Given the description of an element on the screen output the (x, y) to click on. 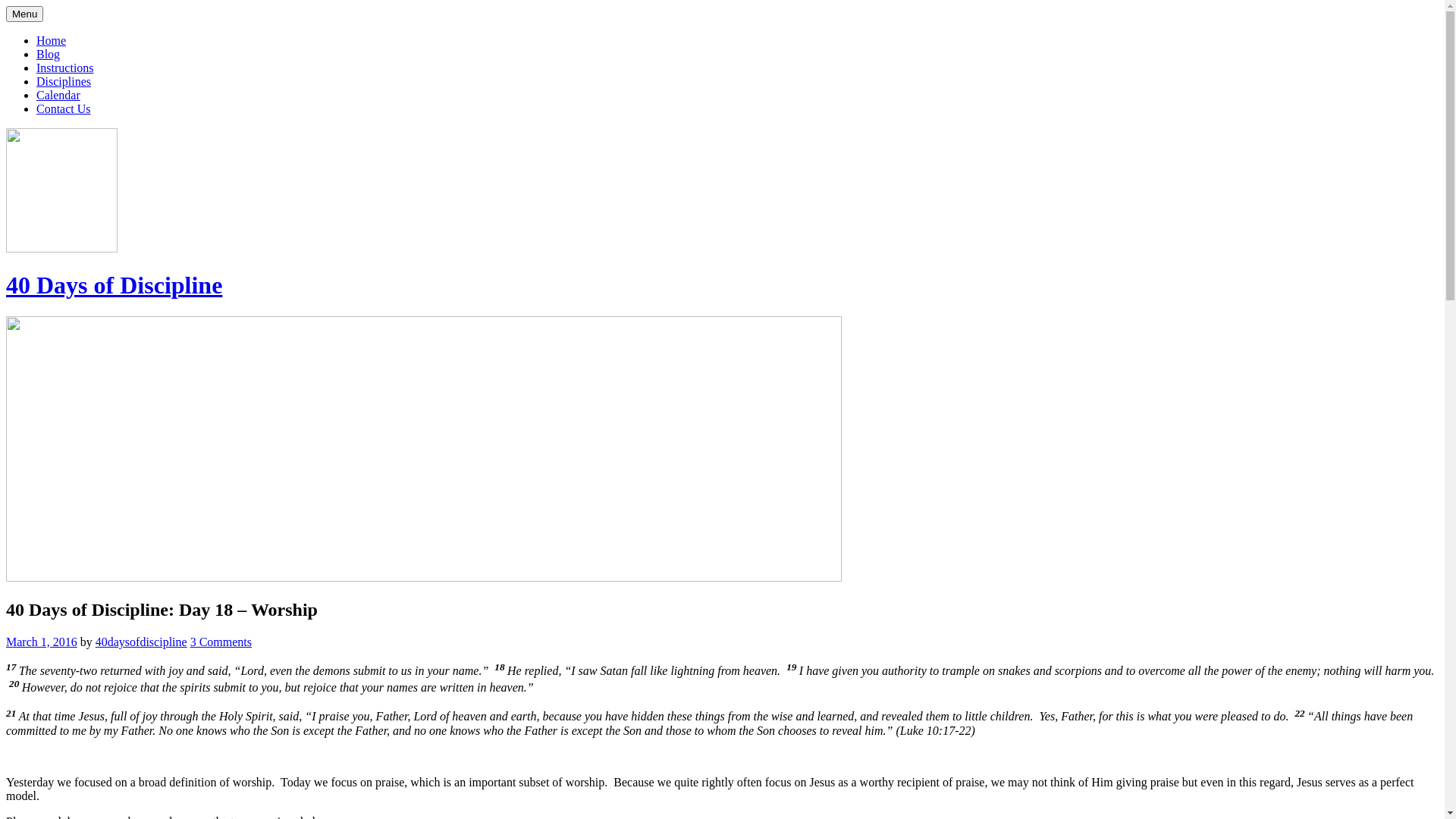
Instructions Element type: text (65, 67)
Home Element type: text (50, 40)
40daysofdiscipline Element type: text (141, 641)
Blog Element type: text (47, 53)
March 1, 2016 Element type: text (41, 641)
3 Comments Element type: text (220, 641)
Menu Element type: text (24, 13)
Contact Us Element type: text (63, 108)
Calendar Element type: text (58, 94)
40 Days of Discipline Element type: text (114, 284)
Disciplines Element type: text (63, 81)
